Given the description of an element on the screen output the (x, y) to click on. 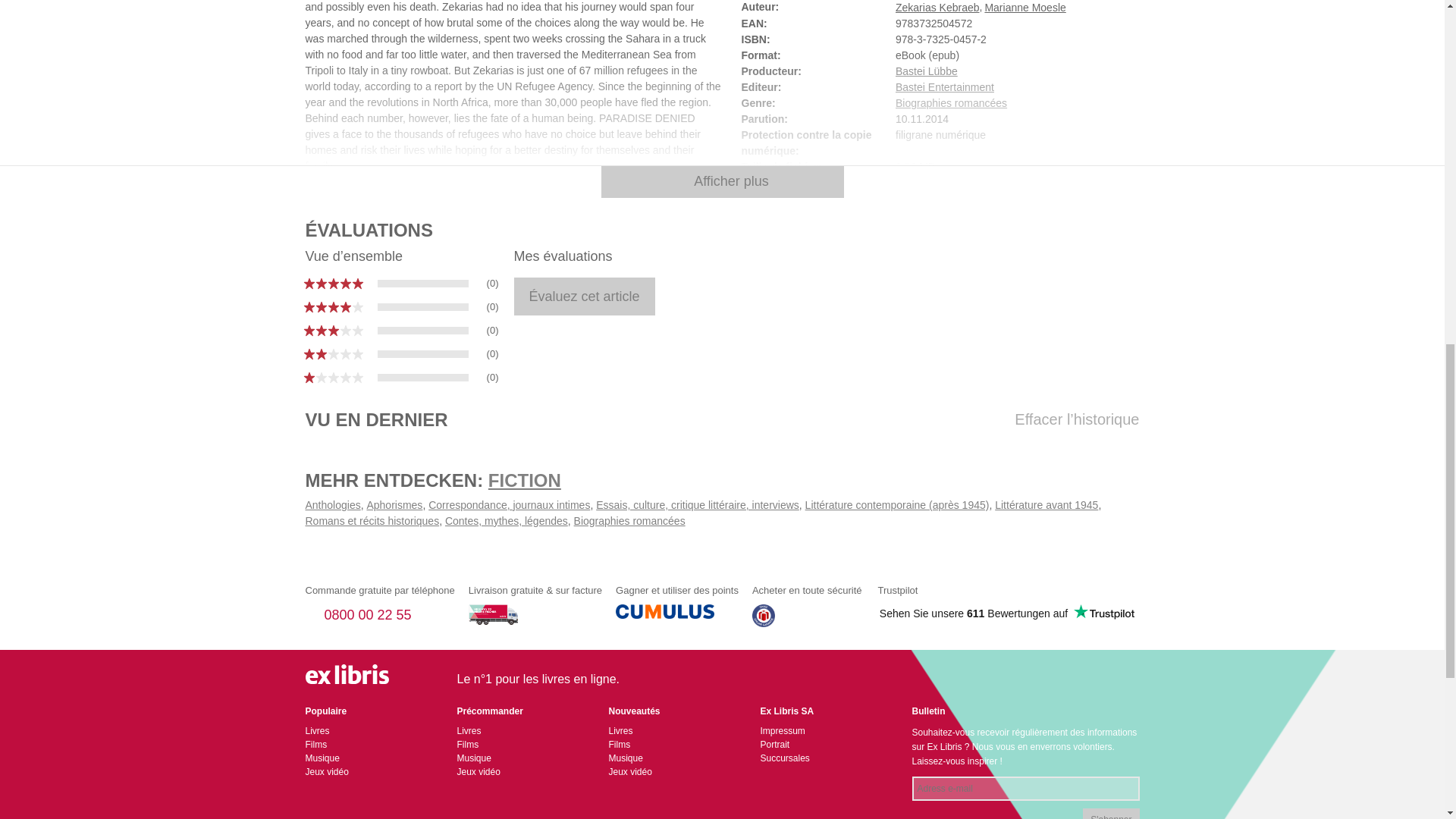
Customer reviews powered by Trustpilot (1006, 613)
